Given the description of an element on the screen output the (x, y) to click on. 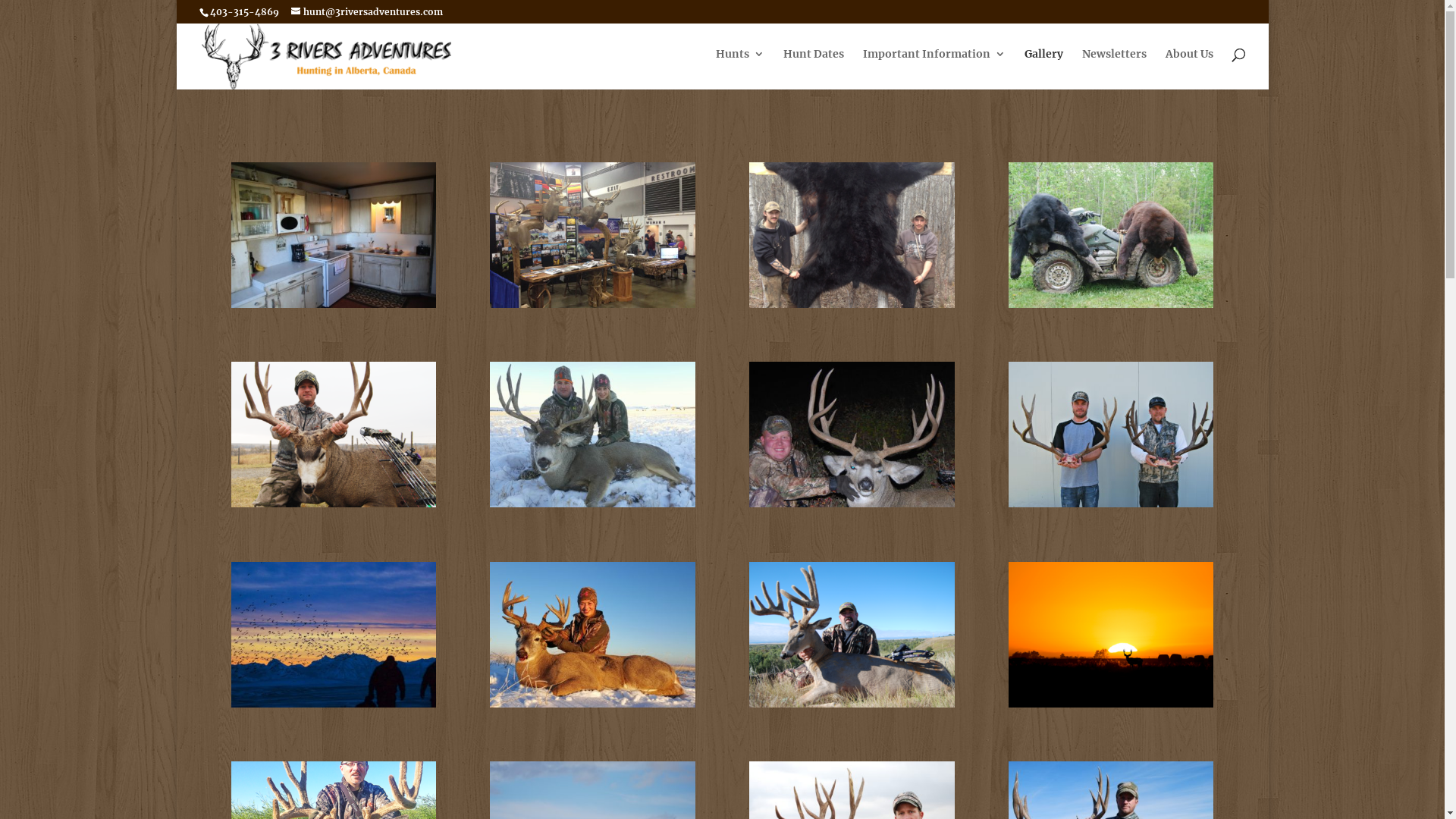
CSC_0952 Element type: hover (1111, 503)
hunt@3riversadventures.com Element type: text (366, 11)
Rachel-Stickler-2015-1080x787 Element type: hover (592, 703)
BearsOnQuad Element type: hover (1111, 303)
Velvet-WhiteTail-990x675 Element type: hover (851, 703)
Newsletters Element type: text (1113, 66)
waterfowl-1024x540 Element type: hover (333, 703)
Tradeshow2016 Element type: hover (592, 303)
Hunts Element type: text (739, 66)
CSC_0151 Element type: hover (851, 503)
Gallery Element type: text (1042, 66)
Hunt Dates Element type: text (812, 66)
About Us Element type: text (1188, 66)
IE8A0628-1080x720 Element type: hover (333, 303)
Bear-2 Element type: hover (851, 303)
2015-11-27-09.21.06 Element type: hover (592, 503)
Important Information Element type: text (933, 66)
Bow-Mule-1 Element type: hover (333, 503)
Deer-in-Sunset-1080x835 Element type: hover (1111, 703)
